Given the description of an element on the screen output the (x, y) to click on. 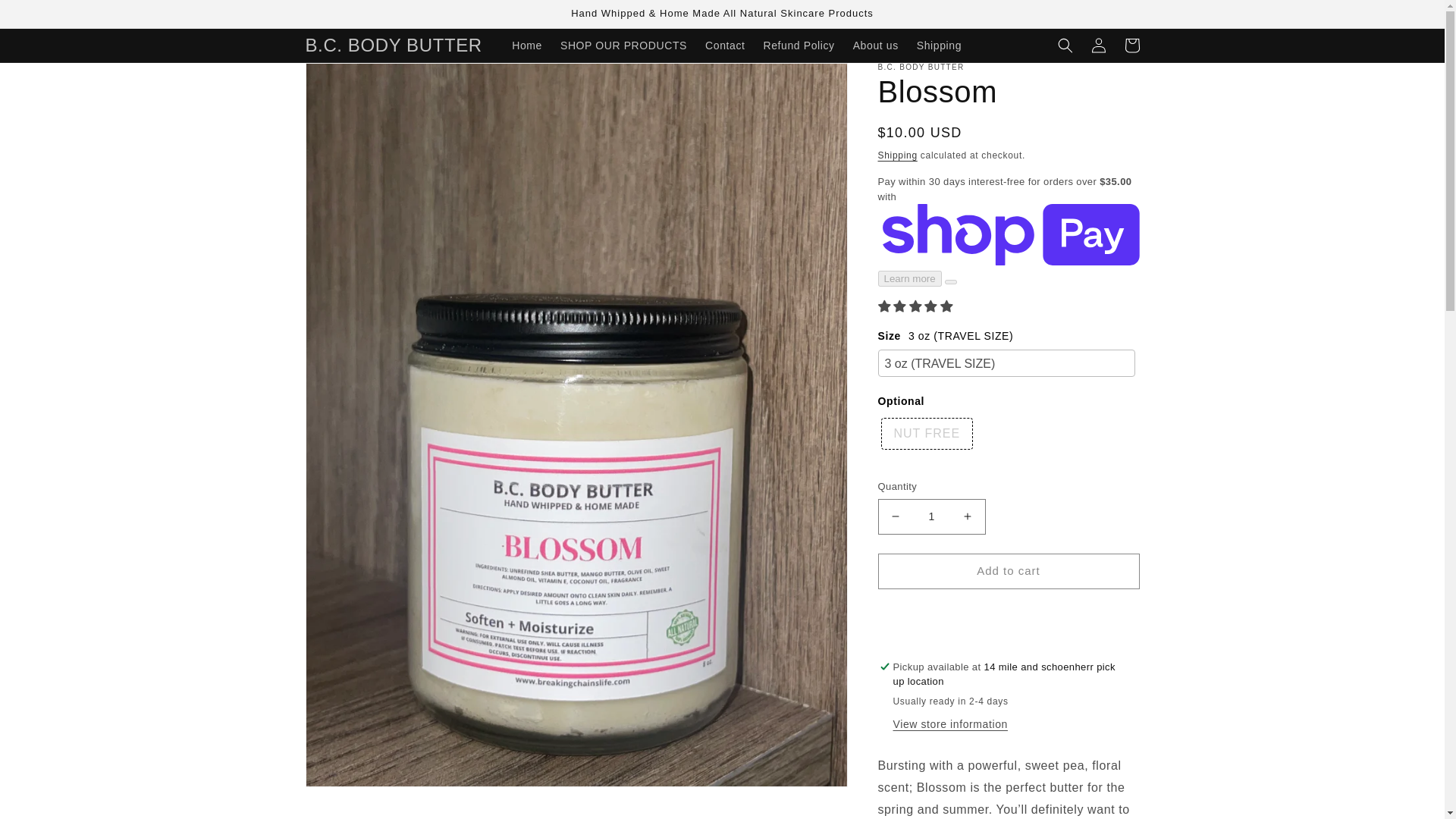
View store information (950, 725)
1 (931, 516)
Home (526, 45)
SHOP OUR PRODUCTS (623, 45)
Increase quantity for Blossom (967, 516)
About us (875, 45)
Refund Policy (798, 45)
Add to cart (1008, 570)
B.C. BODY BUTTER (393, 44)
Cart (1131, 45)
